Given the description of an element on the screen output the (x, y) to click on. 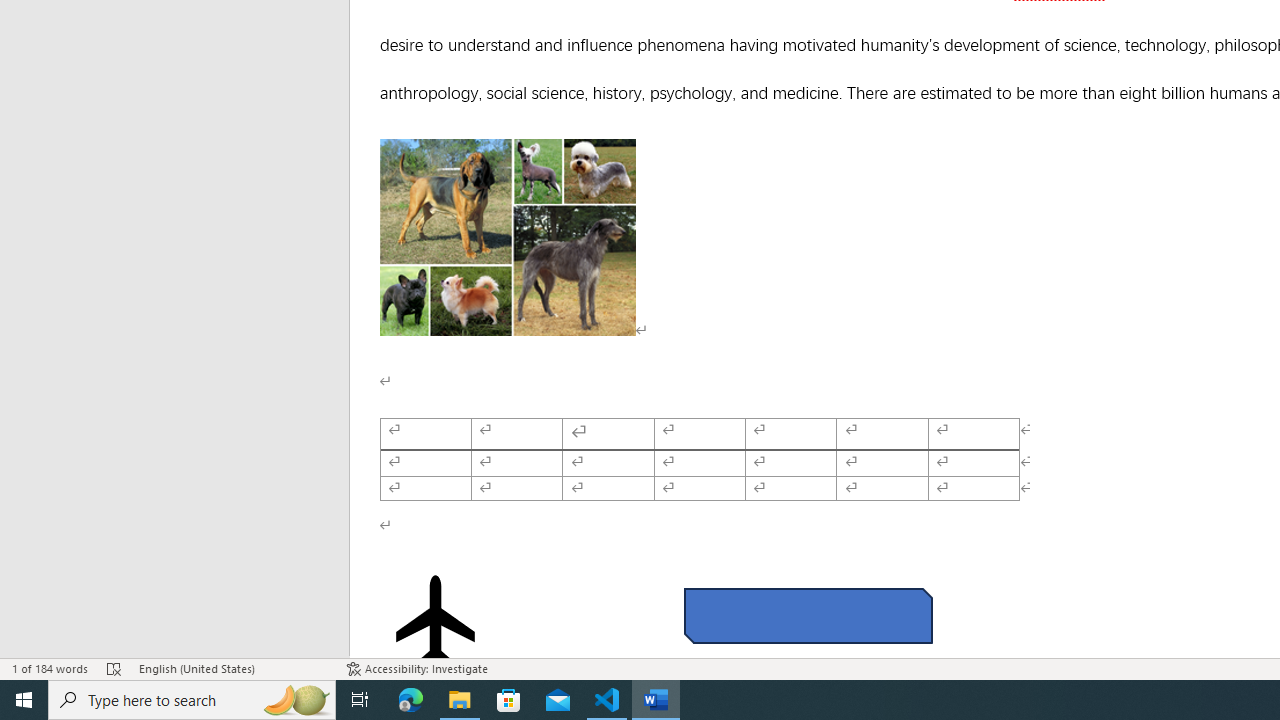
Rectangle: Diagonal Corners Snipped 2 (808, 615)
Spelling and Grammar Check Errors (114, 668)
Language English (United States) (232, 668)
Accessibility Checker Accessibility: Investigate (417, 668)
Morphological variation in six dogs (508, 237)
Airplane with solid fill (435, 620)
